Given the description of an element on the screen output the (x, y) to click on. 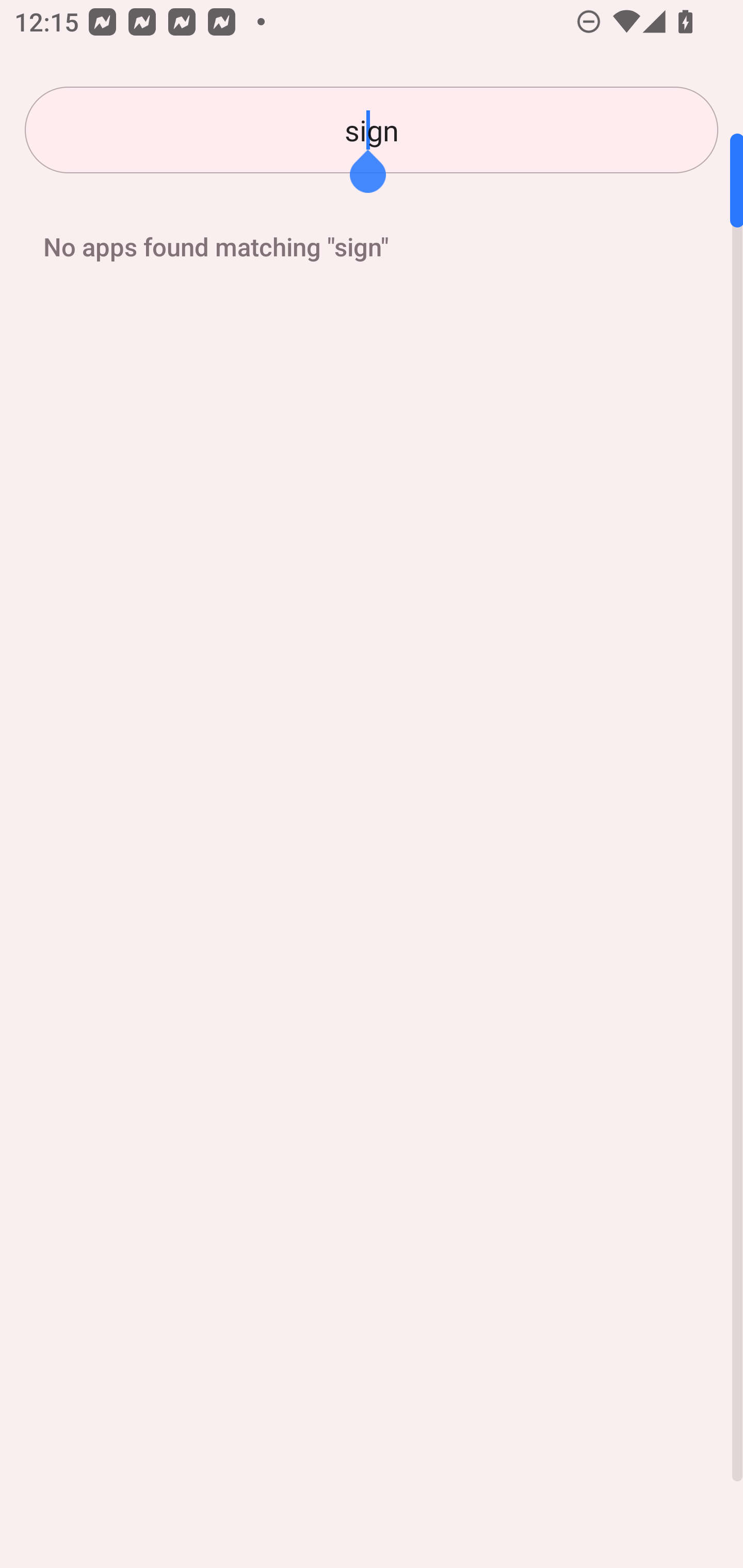
sign (371, 130)
